Given the description of an element on the screen output the (x, y) to click on. 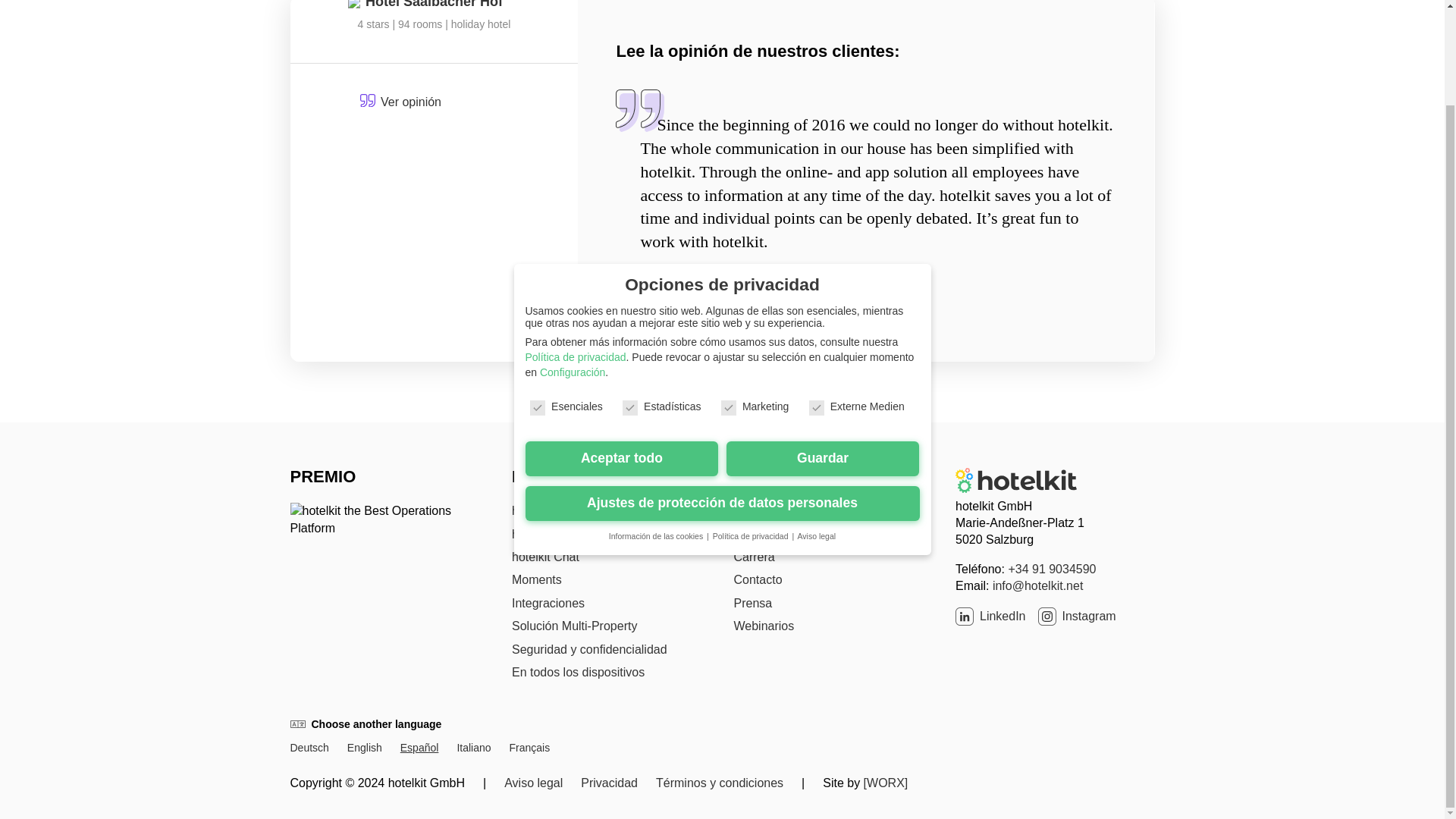
Integraciones (548, 603)
hotelkit Chat (545, 556)
Sobre nosotros (774, 510)
hotelkit Collaboration (568, 510)
Premios (755, 533)
Hotel Saalbacher Hof (433, 4)
Seguridad y confidencialidad (589, 649)
Carrera (753, 556)
Moments (537, 579)
En todos los dispositivos (578, 671)
